Given the description of an element on the screen output the (x, y) to click on. 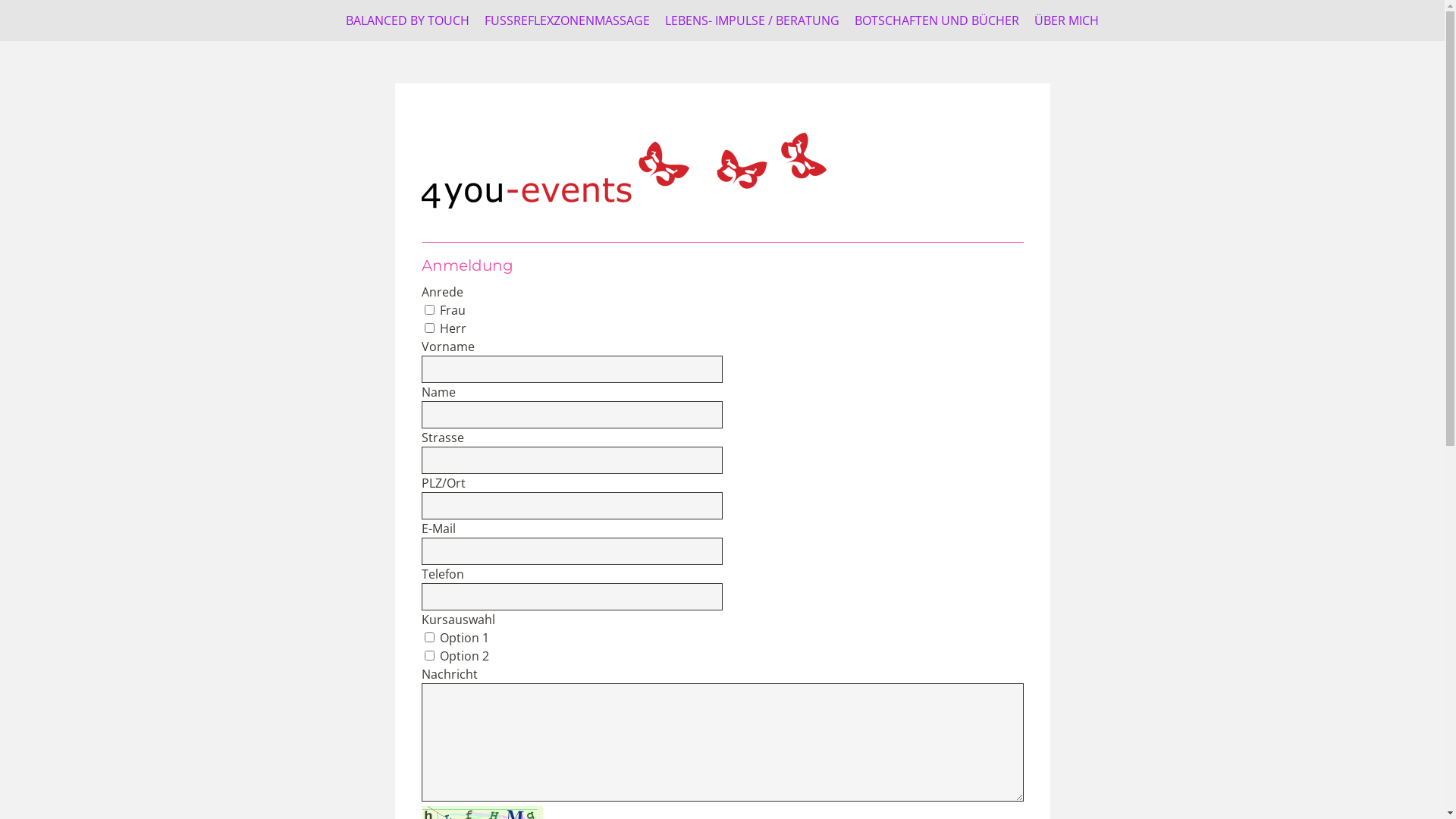
LEBENS- IMPULSE / BERATUNG Element type: text (752, 20)
FUSSREFLEXZONENMASSAGE Element type: text (566, 20)
BALANCED BY TOUCH Element type: text (407, 20)
